Given the description of an element on the screen output the (x, y) to click on. 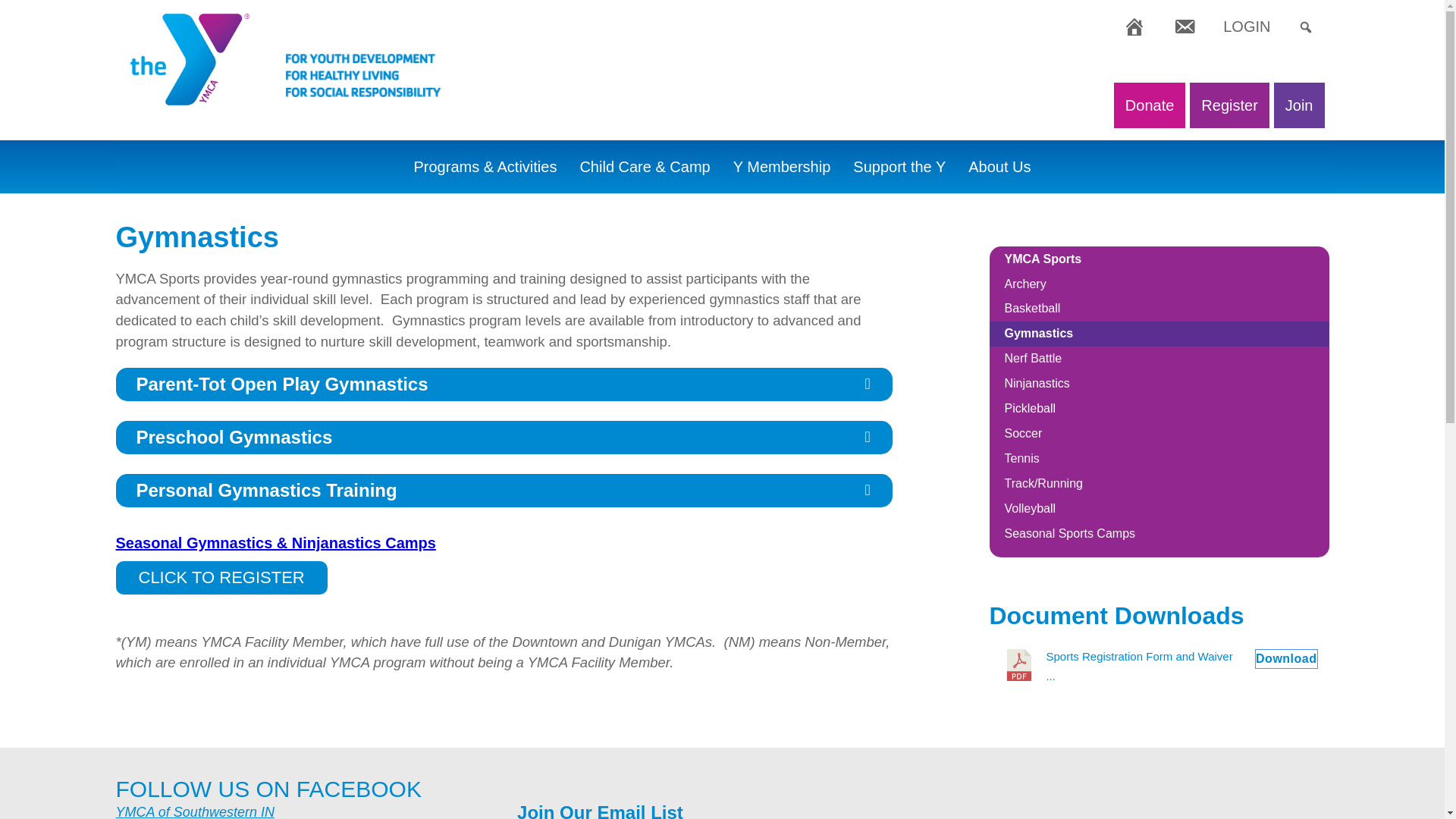
Member Login (1246, 26)
LOGIN (1246, 26)
Donate (1149, 104)
Contact Us (1184, 26)
Membership (1299, 104)
Program Registration (1228, 104)
Search (22, 15)
Click to Register (220, 577)
YMCA Membership (782, 166)
Register (1228, 104)
Join (1299, 104)
Welcome to YMCA of Southwestern Indiana (1134, 26)
